Given the description of an element on the screen output the (x, y) to click on. 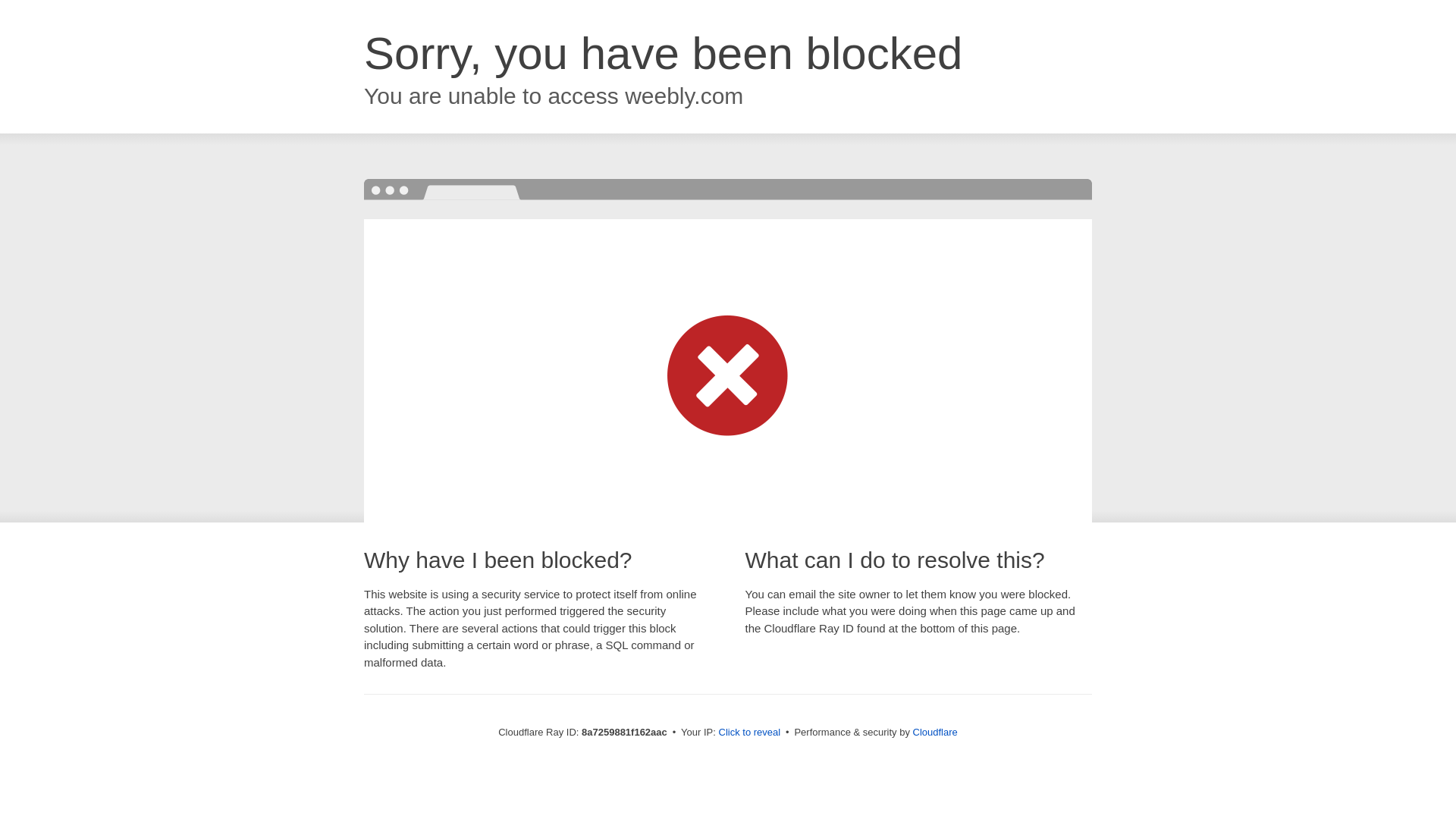
Click to reveal (749, 732)
Cloudflare (935, 731)
